Given the description of an element on the screen output the (x, y) to click on. 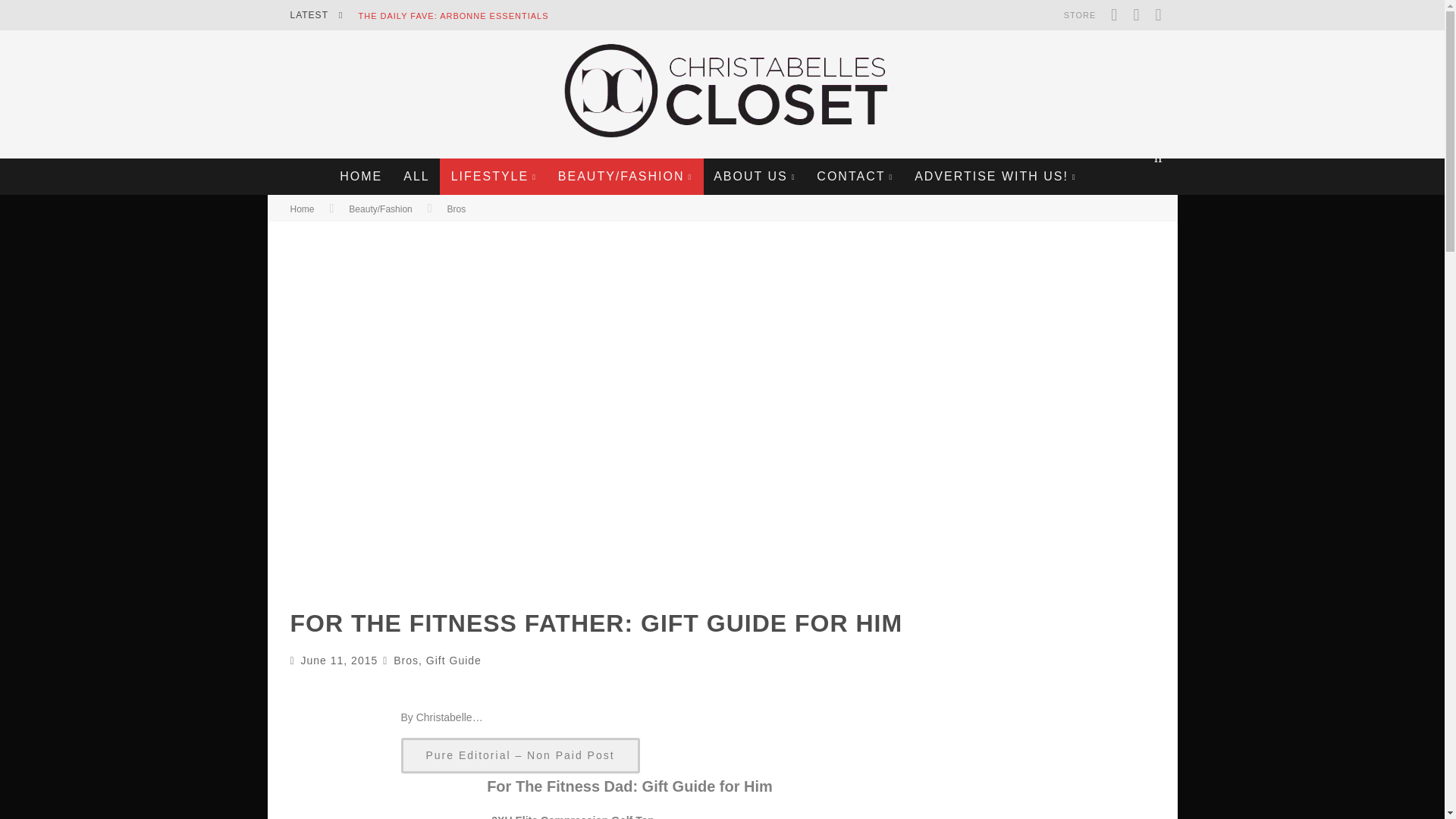
View all posts in Bros (406, 660)
View all posts in Bros (455, 208)
THE DAILY FAVE: ARBONNE ESSENTIALS (453, 15)
The Daily Fave: Arbonne Essentials (453, 15)
